Given the description of an element on the screen output the (x, y) to click on. 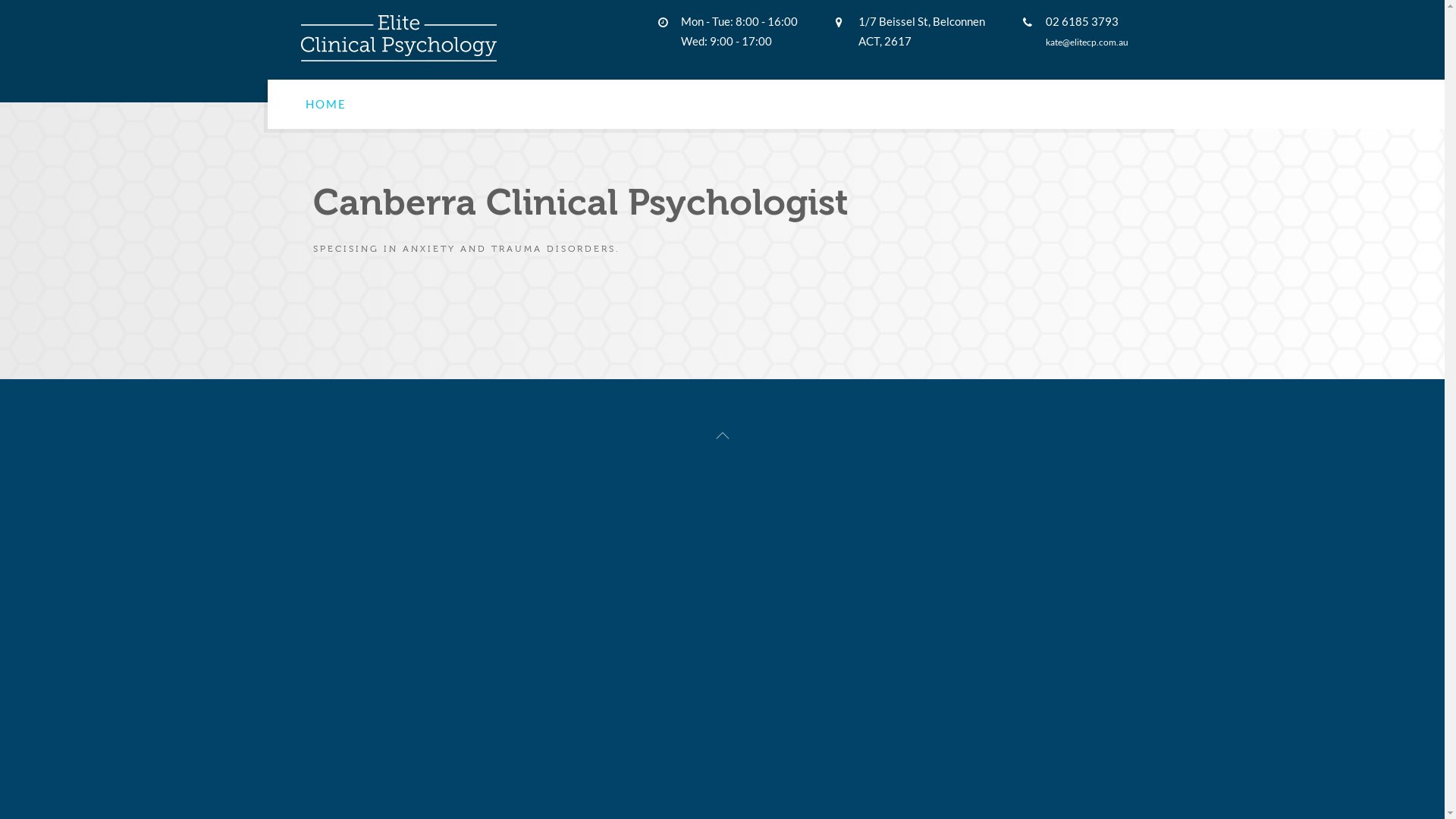
HOME Element type: text (325, 103)
